Given the description of an element on the screen output the (x, y) to click on. 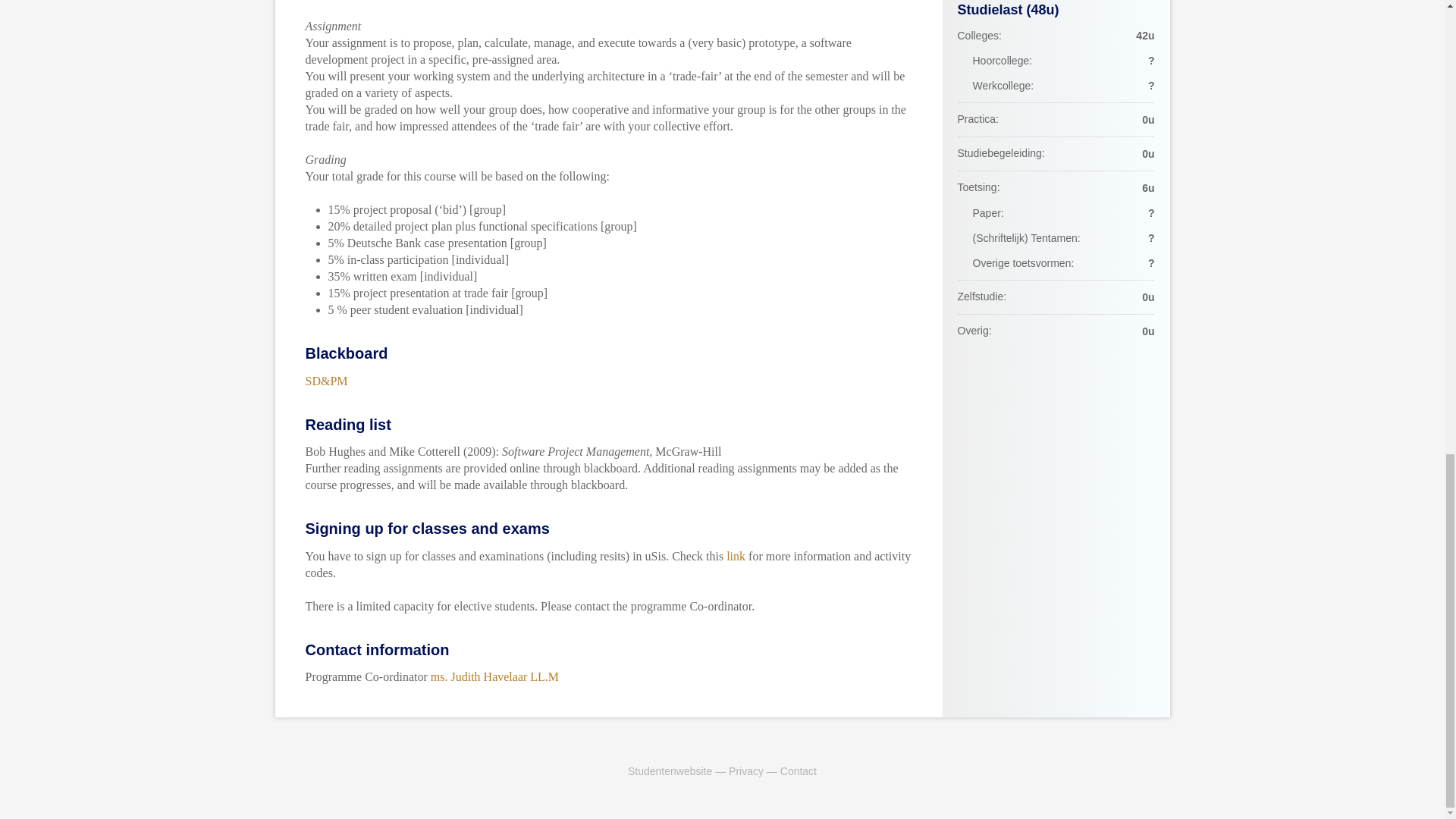
Privacy (745, 770)
link (735, 555)
Contact (798, 770)
Studentenwebsite (669, 770)
ms. Judith Havelaar LL.M (494, 676)
